Given the description of an element on the screen output the (x, y) to click on. 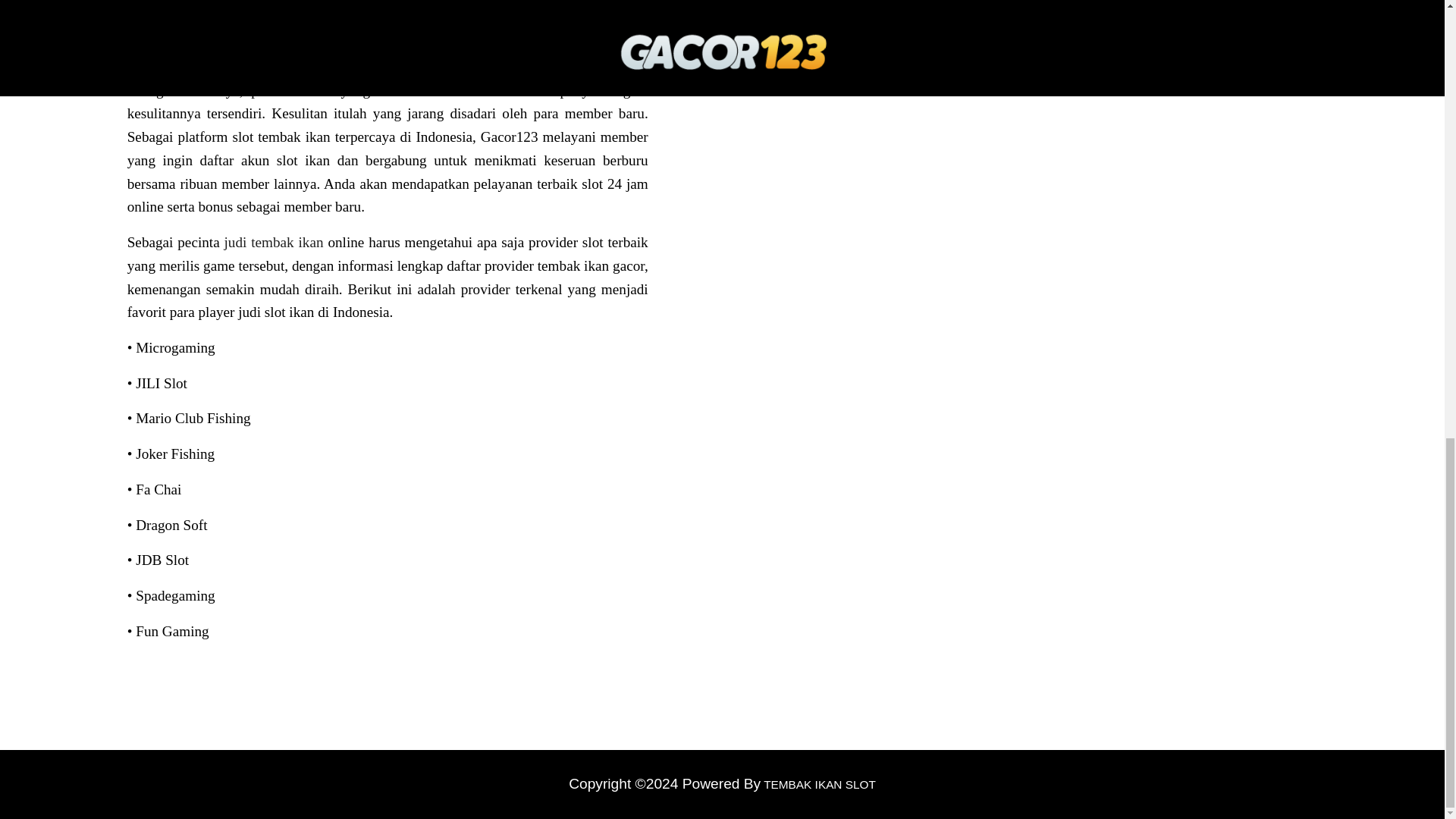
judi tembak ikan (273, 242)
Tembak Ikan Slot (818, 784)
slot tembak ikan (431, 66)
TEMBAK IKAN SLOT (818, 784)
